Given the description of an element on the screen output the (x, y) to click on. 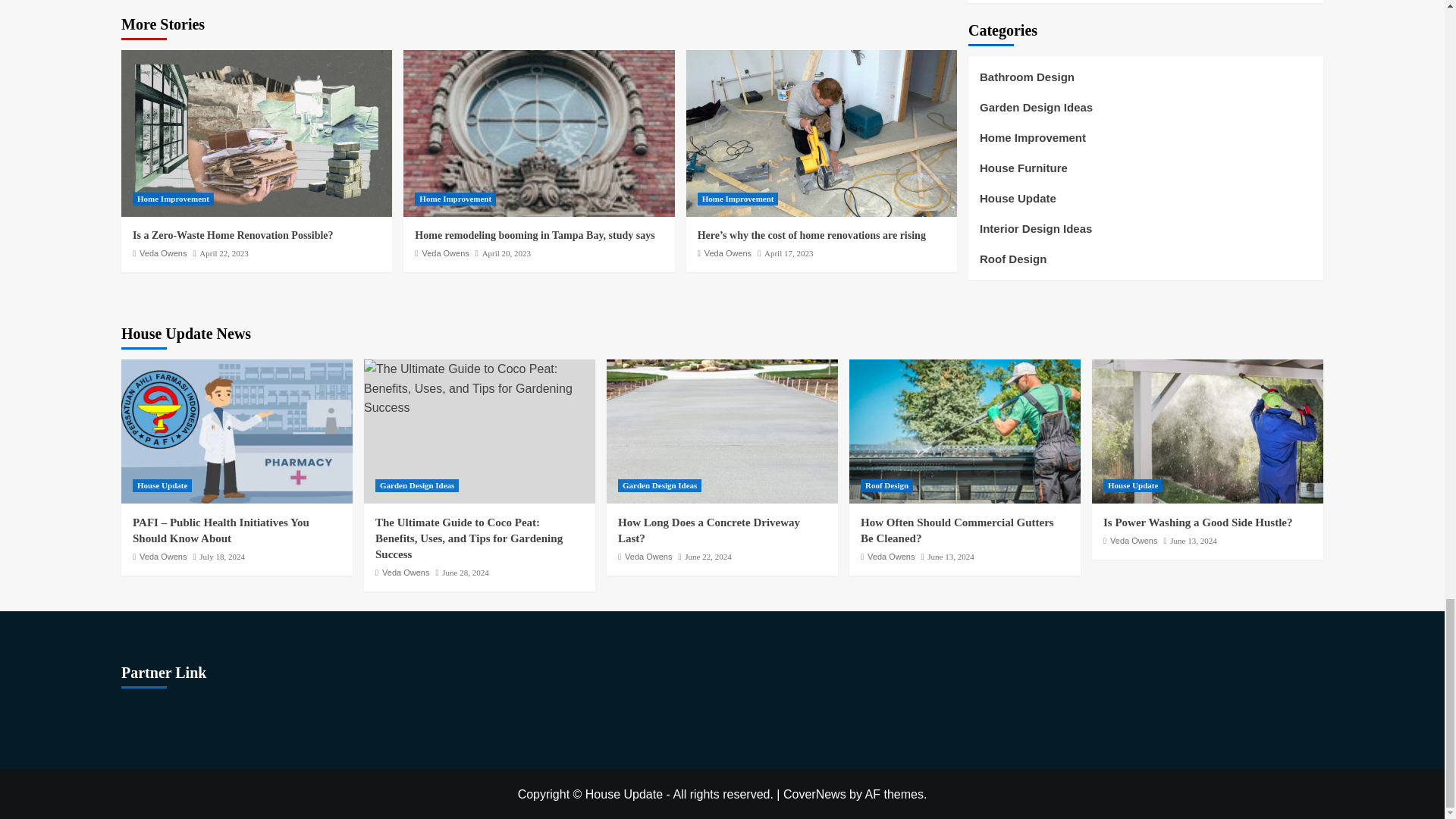
Home remodeling booming in Tampa Bay, study says (533, 235)
Veda Owens (162, 252)
Home Improvement (455, 198)
How Long Does a Concrete Driveway Last? (722, 431)
Is Power Washing a Good Side Hustle? (1207, 431)
Home Improvement (173, 198)
Home remodeling booming in Tampa Bay, study says (538, 133)
Is a Zero-Waste Home Renovation Possible? (232, 235)
How Often Should Commercial Gutters Be Cleaned? (964, 431)
April 22, 2023 (223, 252)
Veda Owens (445, 252)
Is a Zero-Waste Home Renovation Possible? (255, 133)
